Given the description of an element on the screen output the (x, y) to click on. 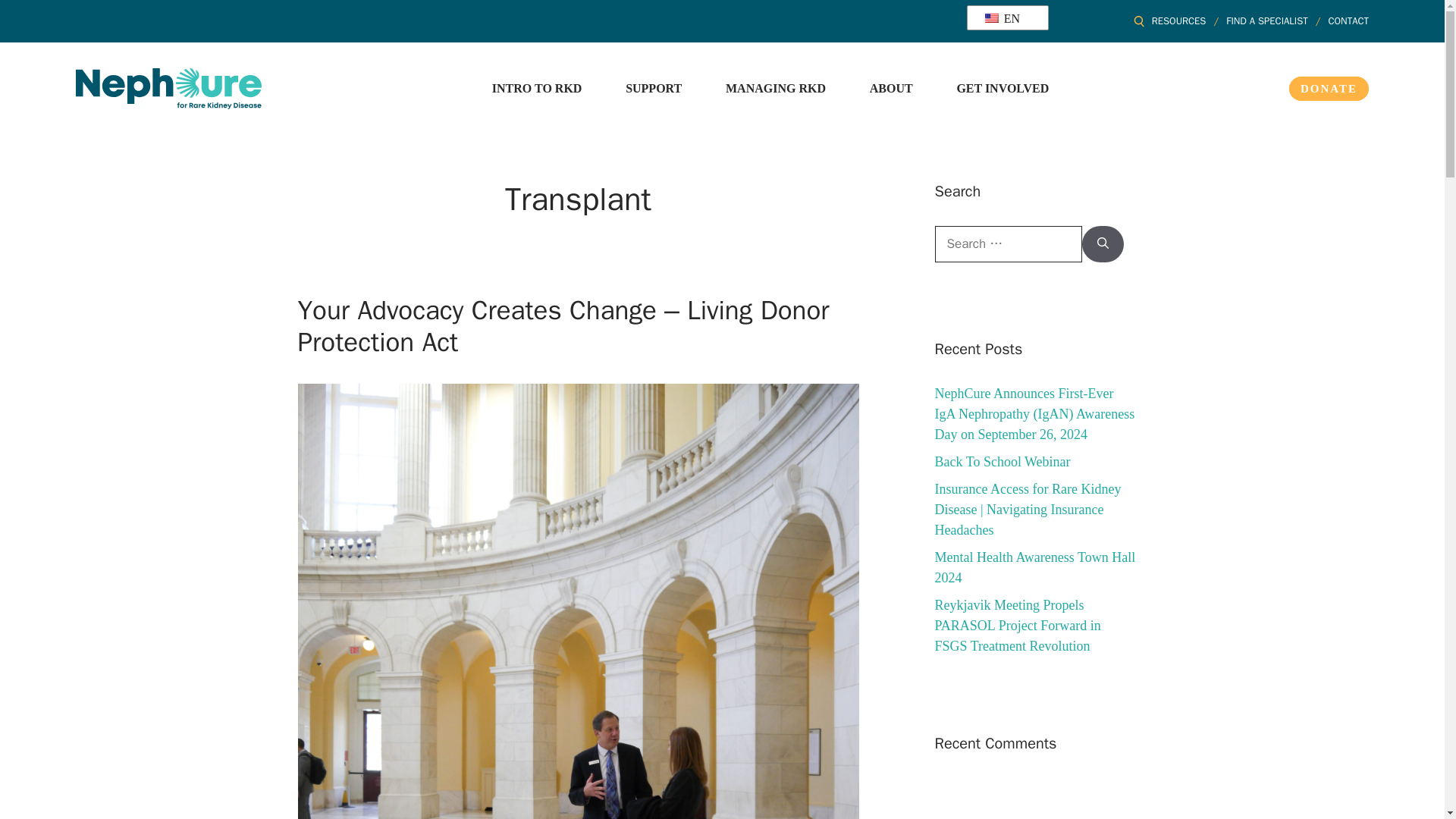
FIND A SPECIALIST (1266, 20)
MANAGING RKD (775, 88)
EN (1004, 18)
RESOURCES (1179, 20)
English (1004, 18)
CONTACT (1347, 20)
Search for: (1007, 244)
ABOUT (890, 88)
English (991, 17)
SUPPORT (653, 88)
